Given the description of an element on the screen output the (x, y) to click on. 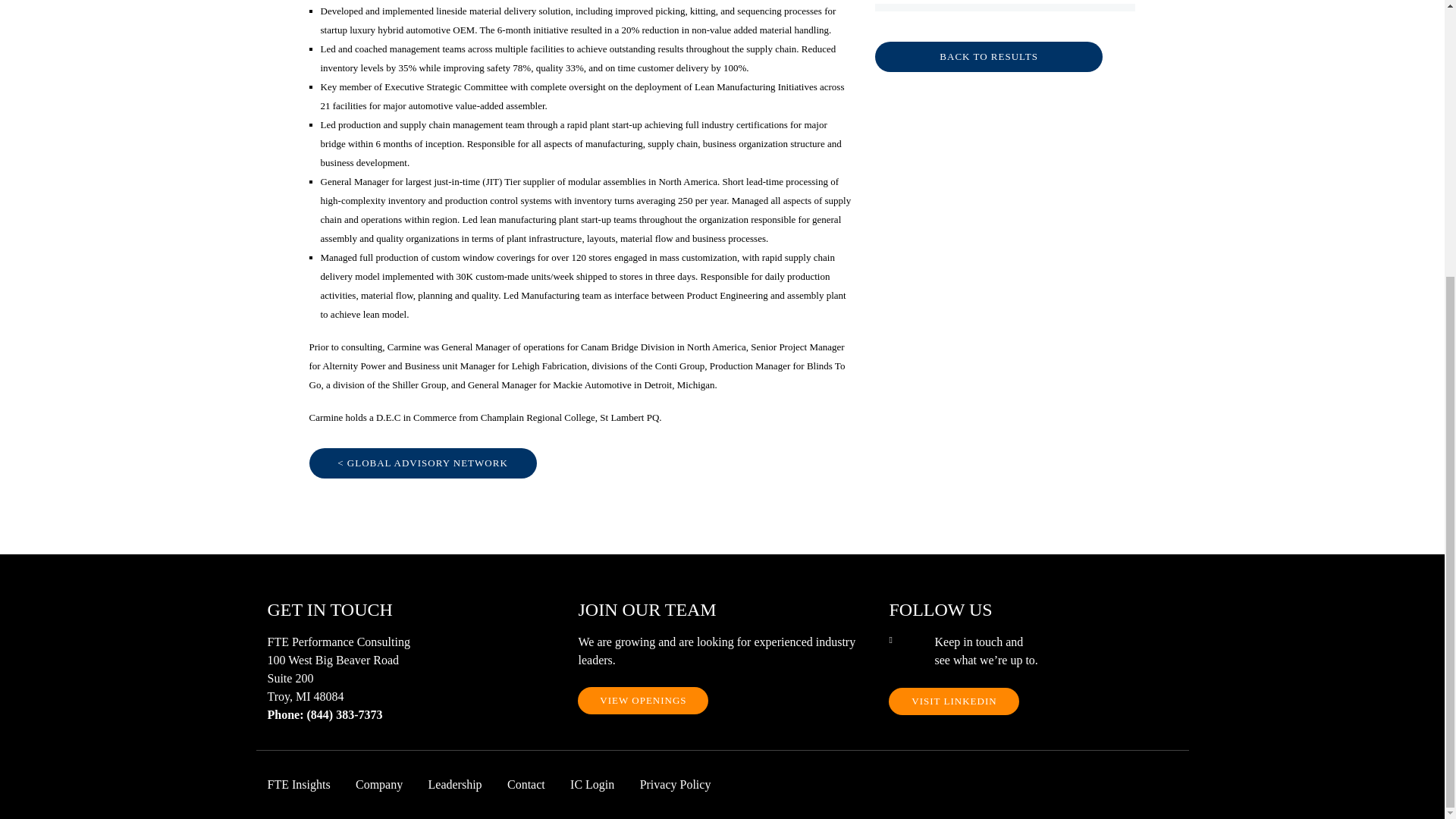
VIEW OPENINGS (642, 700)
IC Login (603, 784)
VISIT LINKEDIN (953, 700)
FTE Insights (309, 784)
Company (390, 784)
Contact (536, 784)
Leadership (466, 784)
Privacy Policy (686, 784)
BACK TO RESULTS (988, 56)
